Given the description of an element on the screen output the (x, y) to click on. 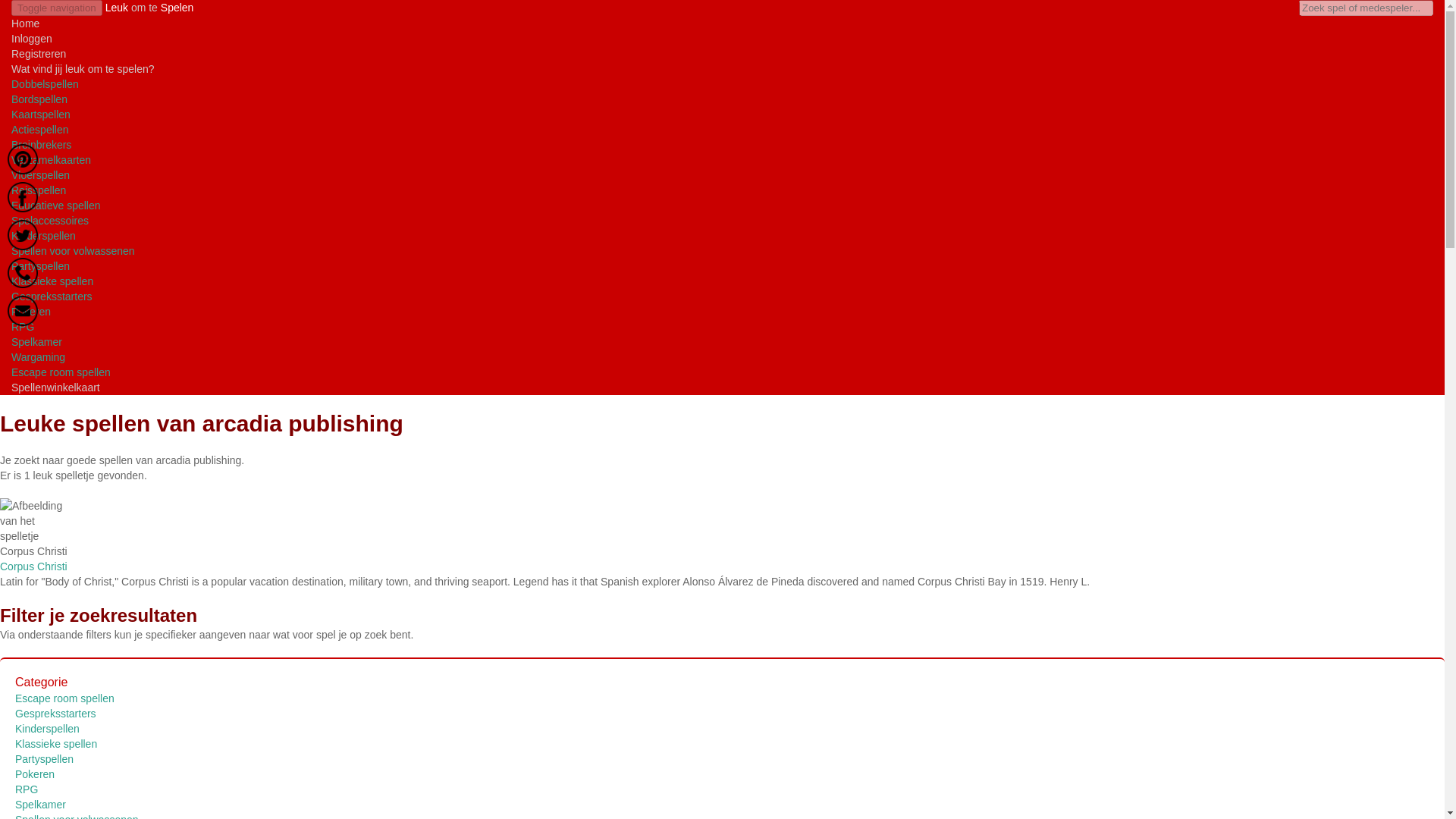
Pokeren (30, 311)
Partyspellen (40, 265)
Bordspellen (38, 99)
Spellen voor volwassenen (73, 250)
Pokeren (34, 774)
Wargaming (38, 357)
Spelaccessoires (49, 220)
Wat vind jij leuk om te spelen? (82, 69)
Escape room spellen (60, 372)
Spellen voor volwassenen (76, 816)
Toggle navigation (56, 7)
Dobbelspellen (44, 83)
Corpus Christi (33, 566)
Educatieve spellen (55, 205)
Reisspellen (38, 190)
